Given the description of an element on the screen output the (x, y) to click on. 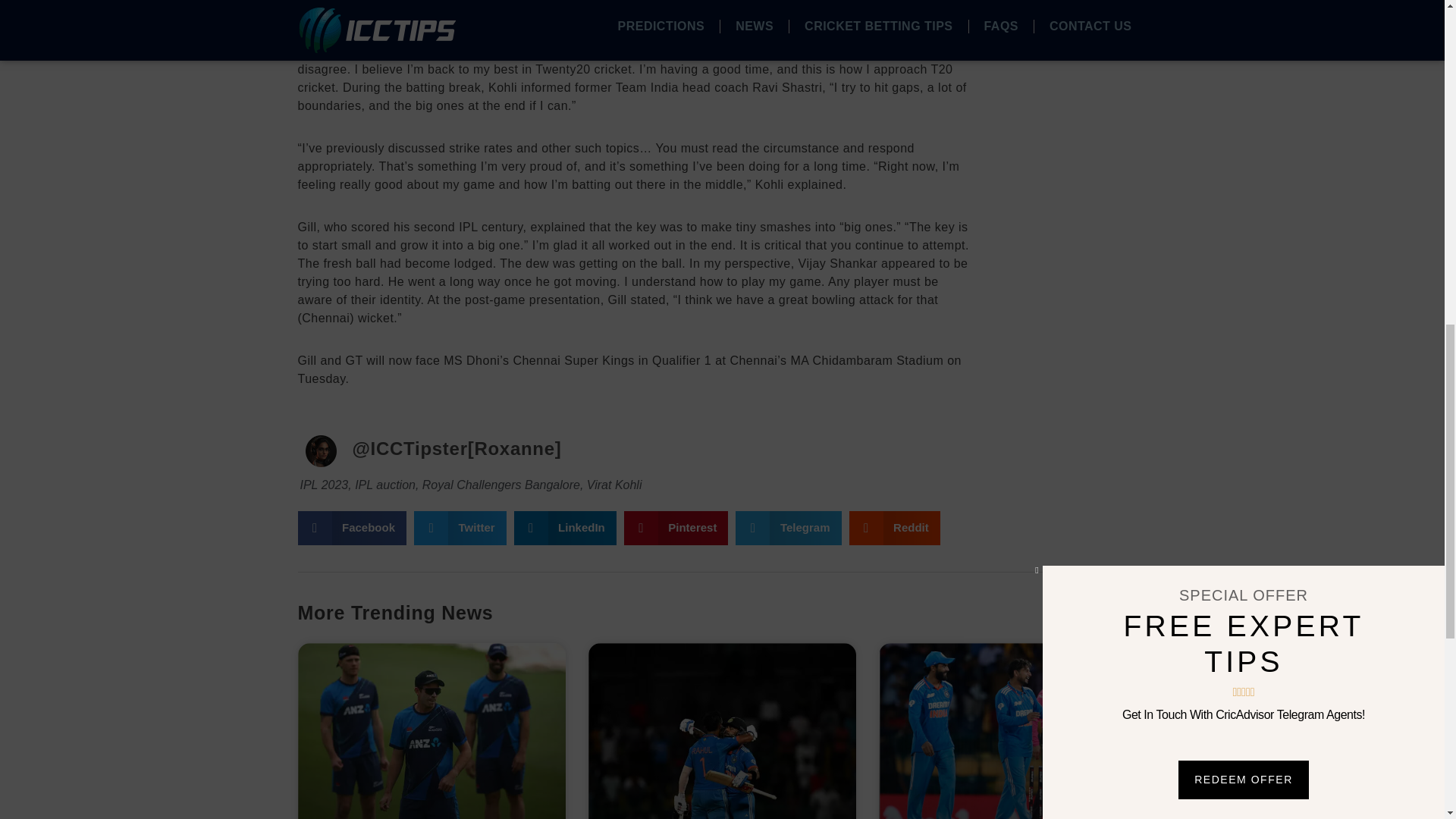
IPL auction (384, 484)
Royal Challengers Bangalore (500, 484)
Virat Kohli (614, 484)
IPL 2023 (324, 484)
